Given the description of an element on the screen output the (x, y) to click on. 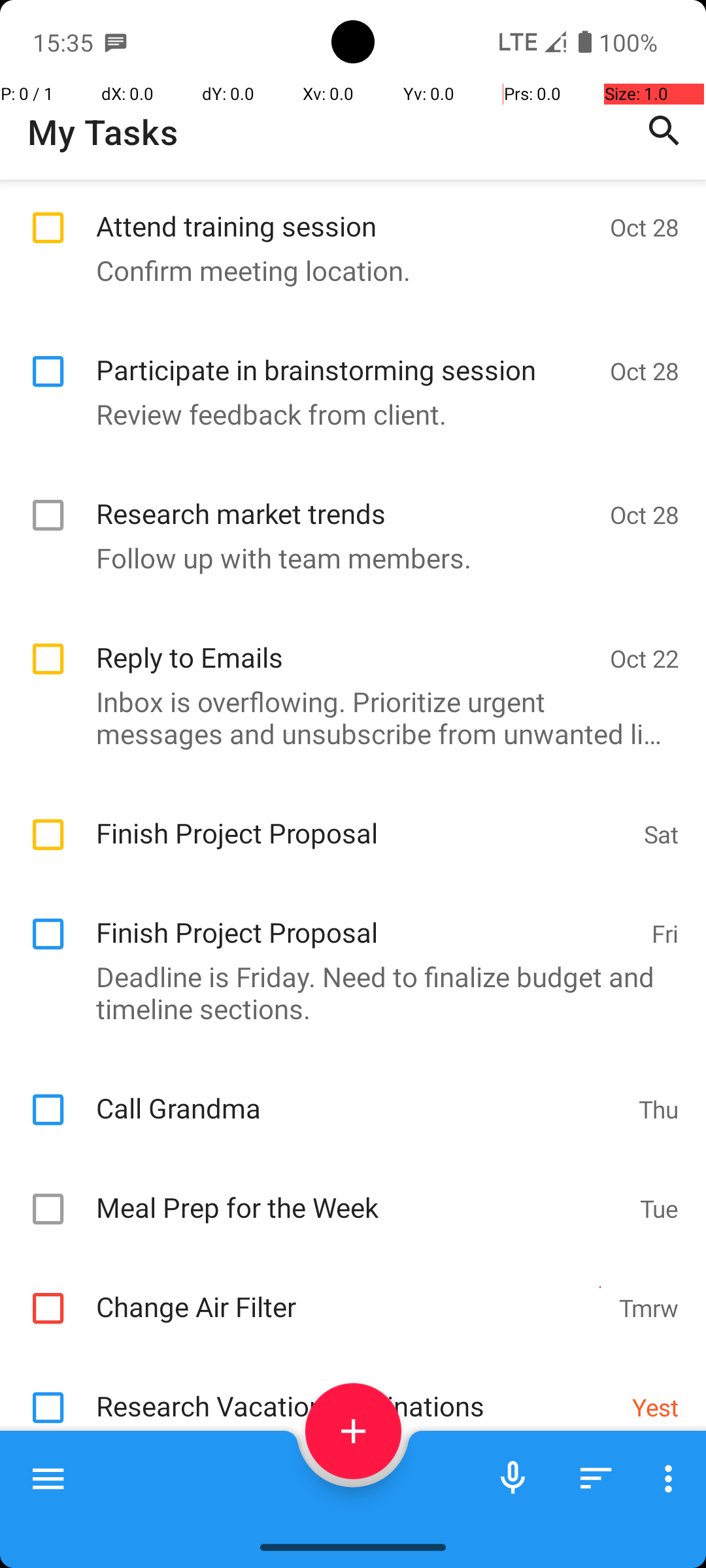
Attend training session Element type: android.widget.TextView (346, 211)
Confirm meeting location. Element type: android.widget.TextView (346, 269)
Oct 28 Element type: android.widget.TextView (644, 226)
Participate in brainstorming session Element type: android.widget.TextView (346, 355)
Review feedback from client. Element type: android.widget.TextView (346, 413)
Research market trends Element type: android.widget.TextView (346, 499)
Follow up with team members. Element type: android.widget.TextView (346, 557)
Oct 22 Element type: android.widget.TextView (644, 657)
Deadline is Friday. Need to finalize budget and timeline sections. Element type: android.widget.TextView (346, 992)
